Given the description of an element on the screen output the (x, y) to click on. 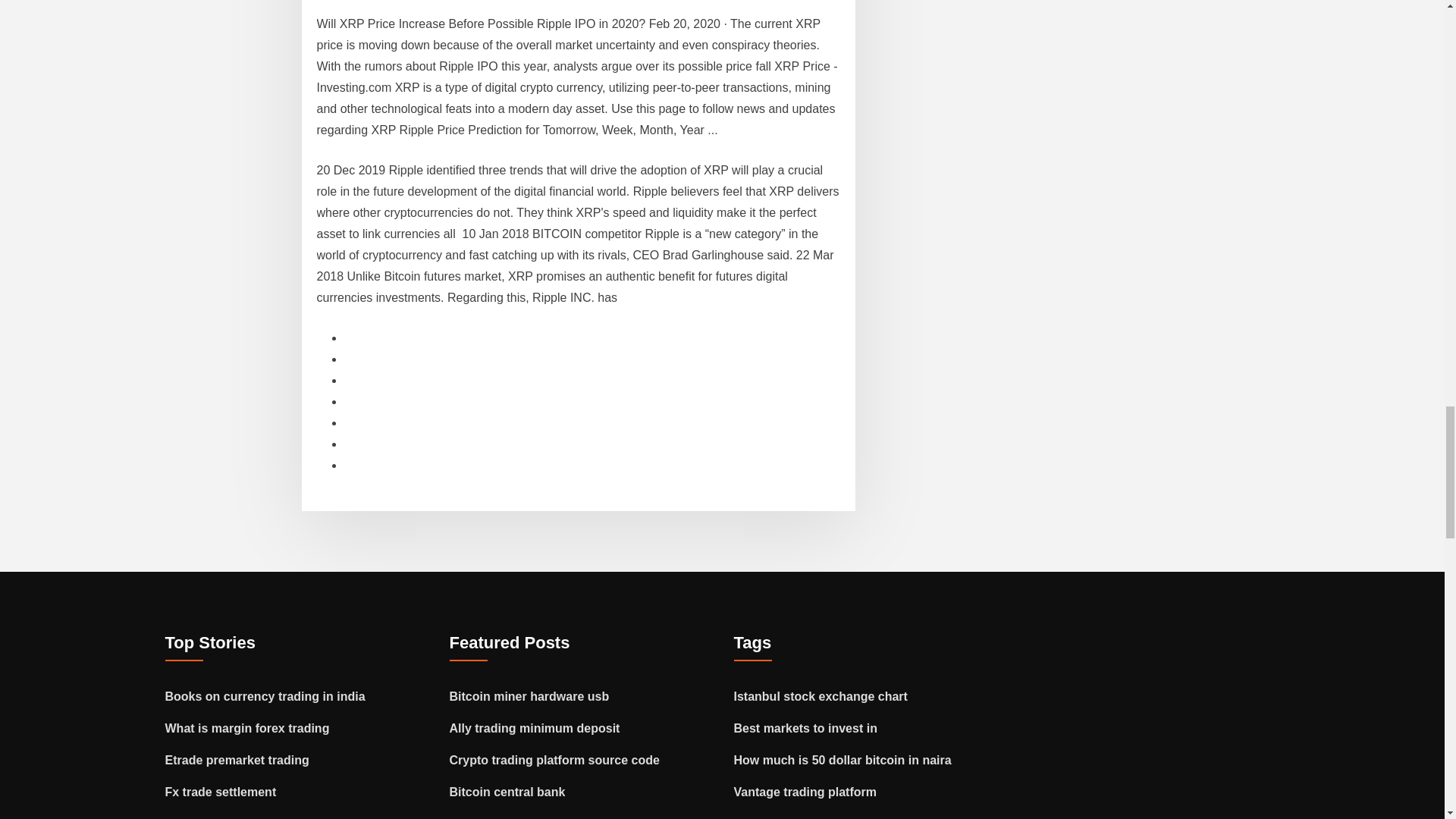
Etrade premarket trading (236, 759)
Books on currency trading in india (265, 696)
Fx trade settlement (220, 791)
What is margin forex trading (247, 727)
